Given the description of an element on the screen output the (x, y) to click on. 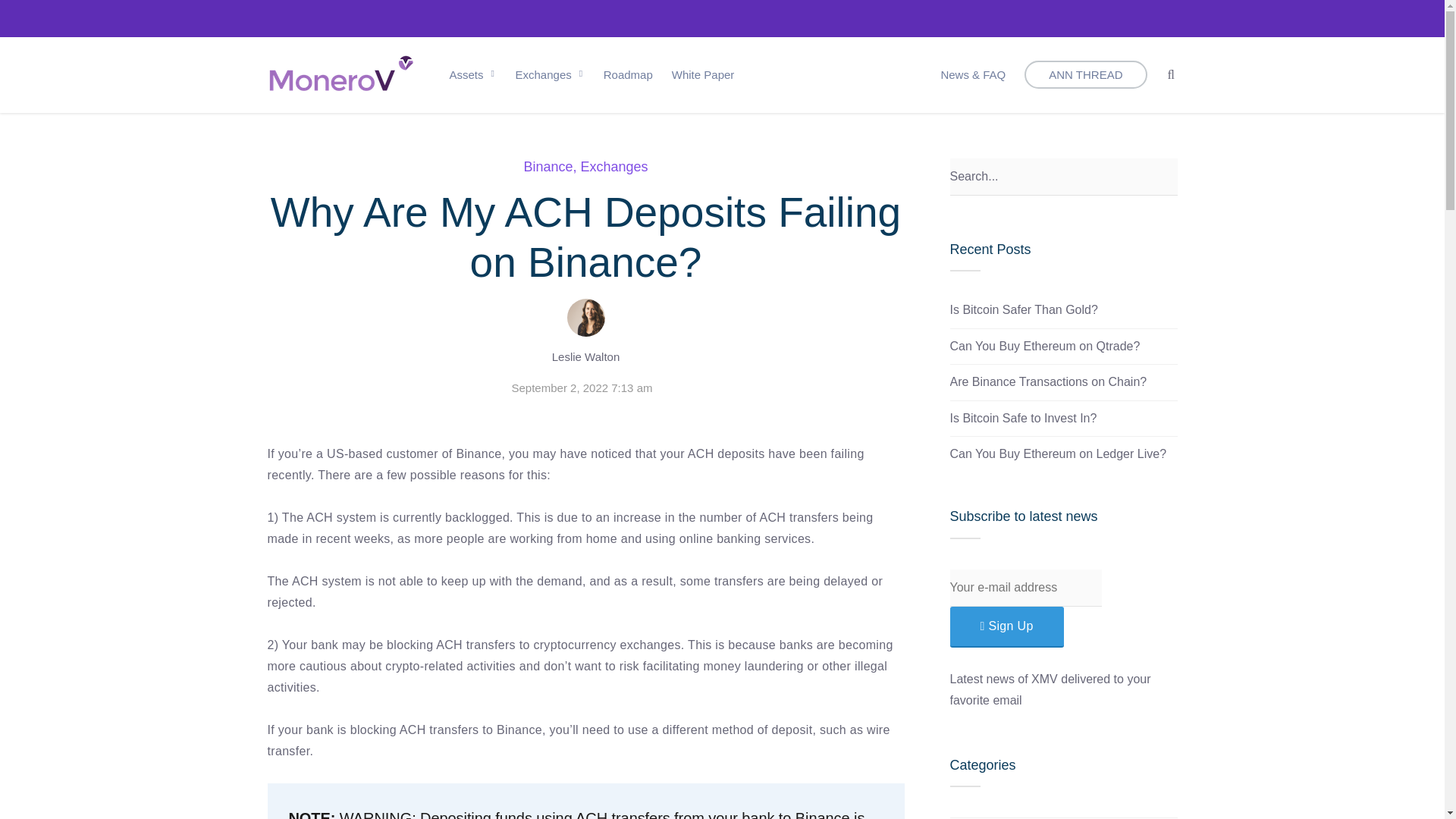
Is Bitcoin Safer Than Gold? (1023, 309)
Assets (967, 818)
Search... (1062, 176)
View all posts by Leslie Walton (585, 356)
Exchanges (550, 74)
Are Binance Transactions on Chain? (1048, 381)
Is Bitcoin Safe to Invest In? (1022, 418)
Leslie Walton (585, 356)
Exchanges (613, 166)
ANN THREAD (1086, 74)
